Given the description of an element on the screen output the (x, y) to click on. 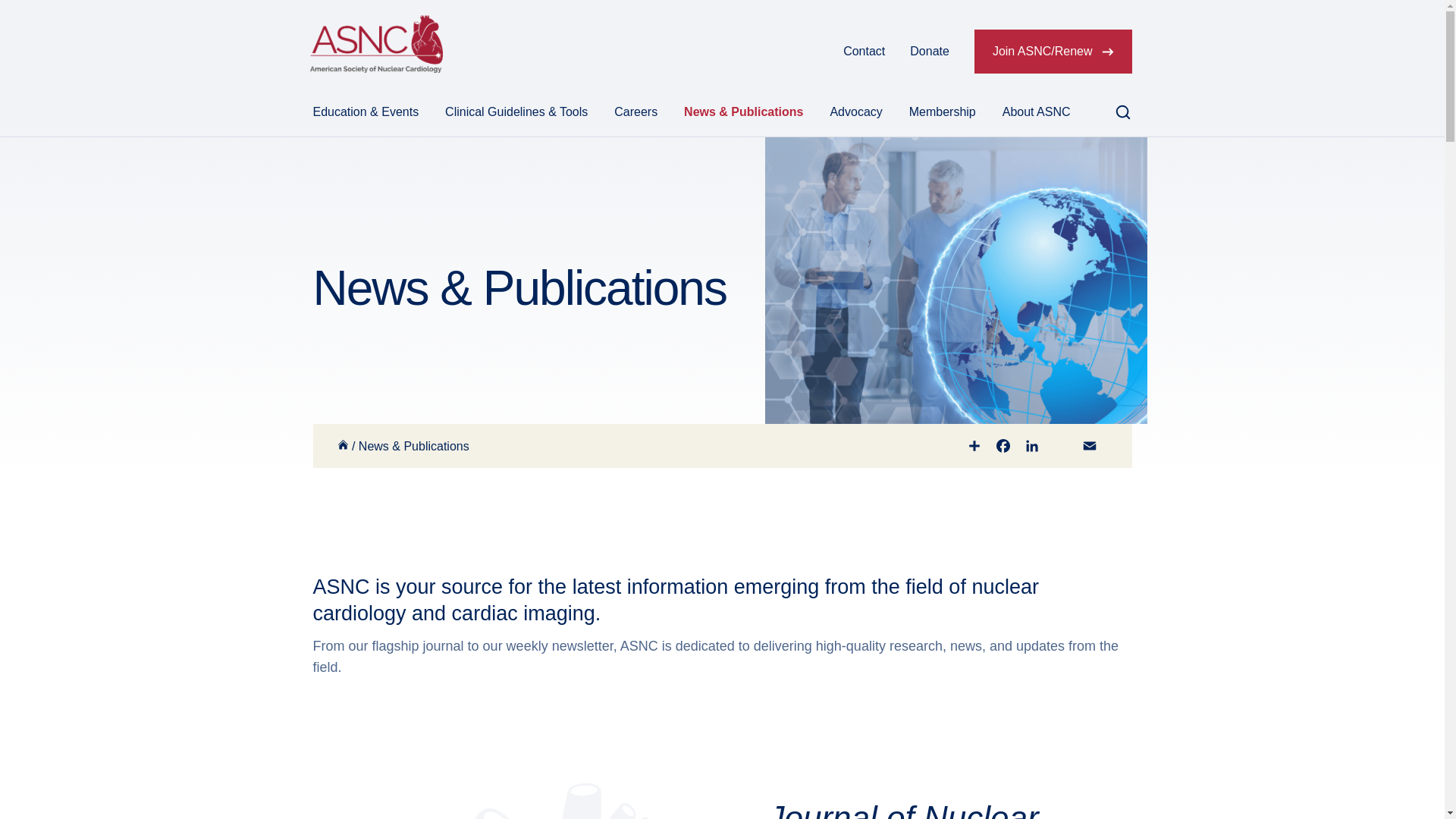
Contact (863, 51)
Donate (929, 51)
heart (509, 800)
Log In (801, 51)
